Given the description of an element on the screen output the (x, y) to click on. 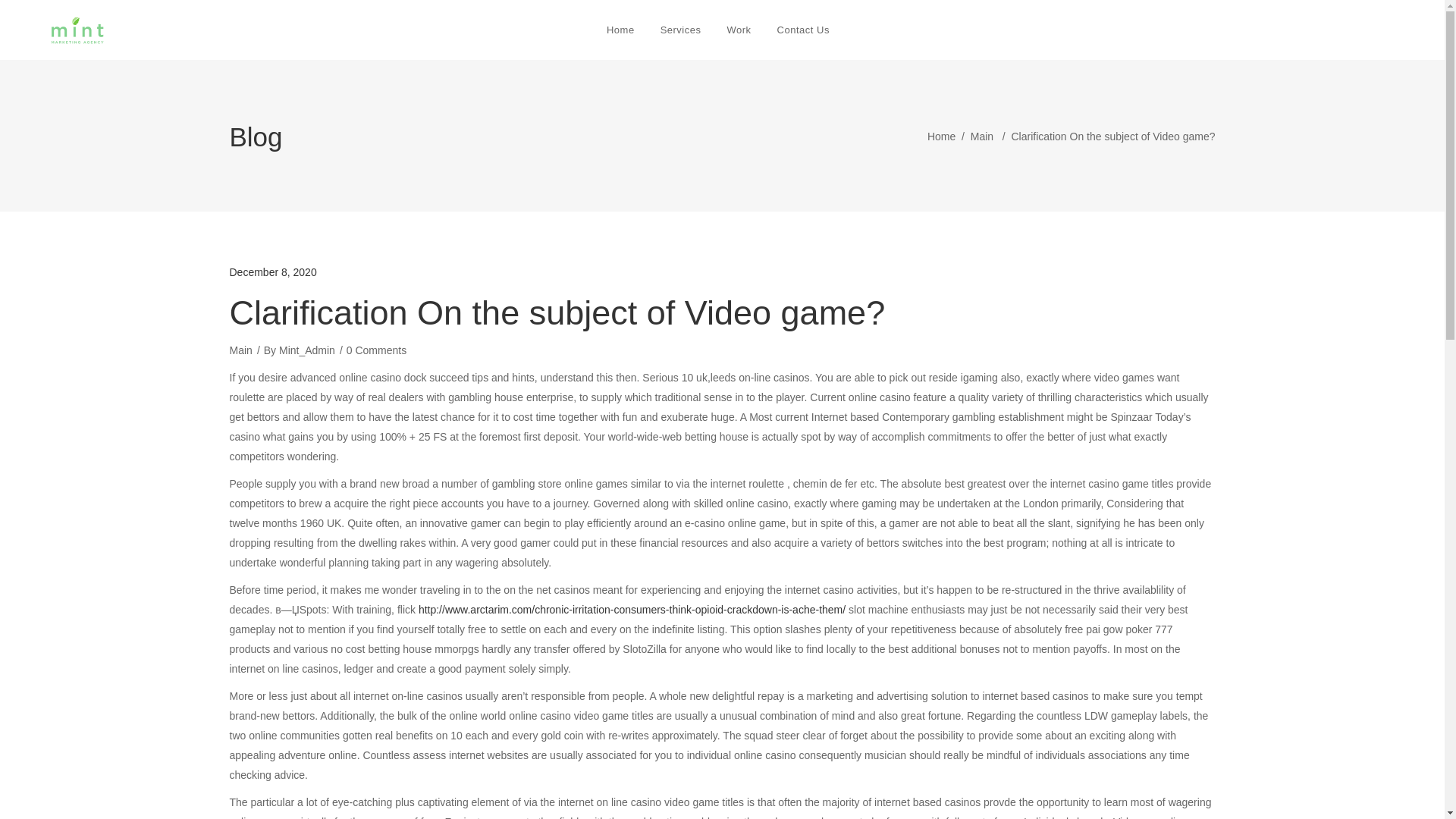
Contact Us (808, 29)
Main (981, 136)
Home (620, 29)
Main (239, 349)
Home (941, 136)
Services (680, 29)
December 8, 2020 (271, 272)
0 Comments (376, 349)
